Given the description of an element on the screen output the (x, y) to click on. 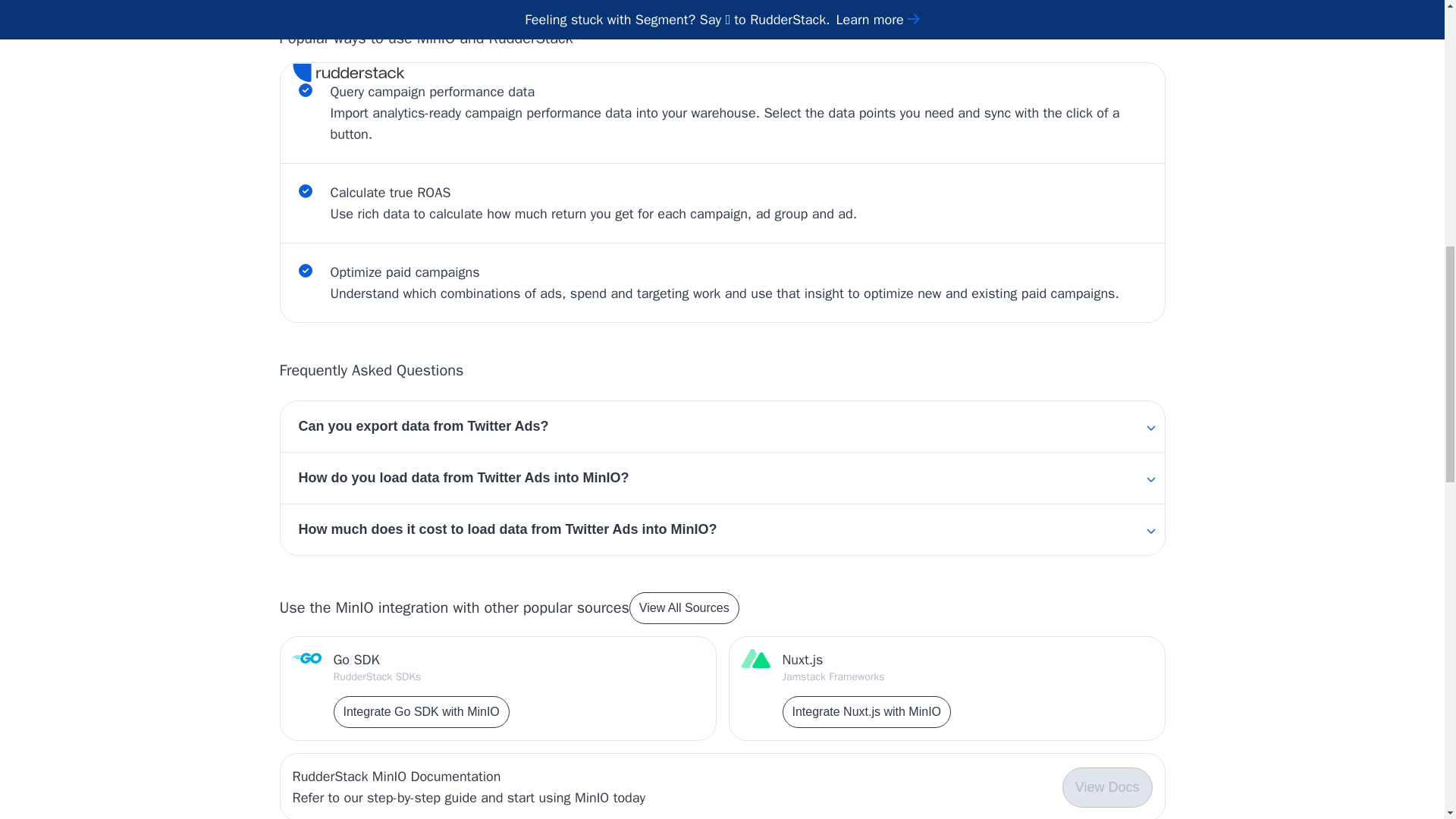
Go SDK (421, 659)
Integrate Nuxt.js with MinIO (867, 712)
View Docs (1107, 787)
Integrate Go SDK with MinIO (421, 712)
Nuxt.js (867, 659)
View All Sources (683, 608)
